Given the description of an element on the screen output the (x, y) to click on. 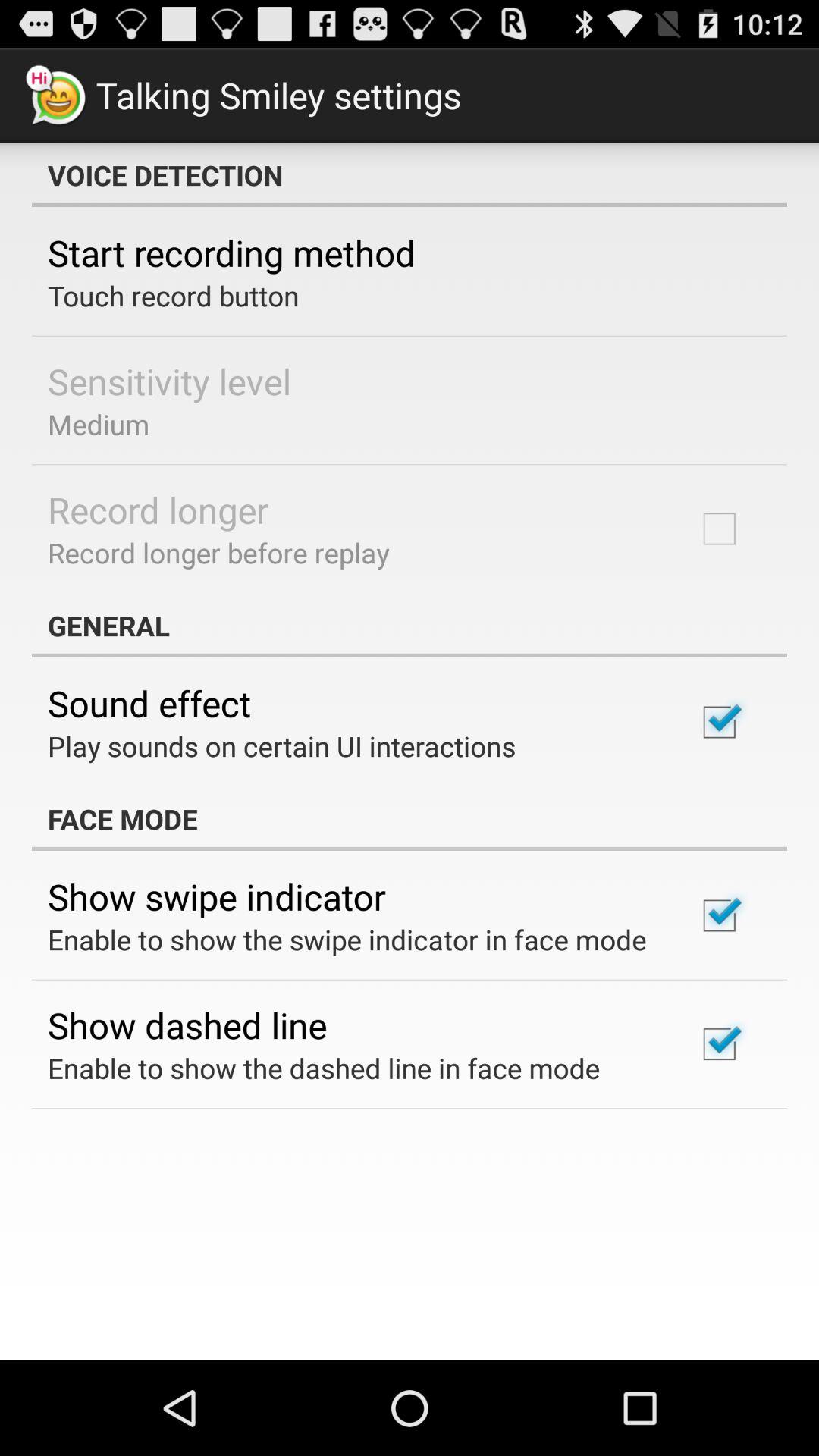
jump until sound effect icon (149, 703)
